Given the description of an element on the screen output the (x, y) to click on. 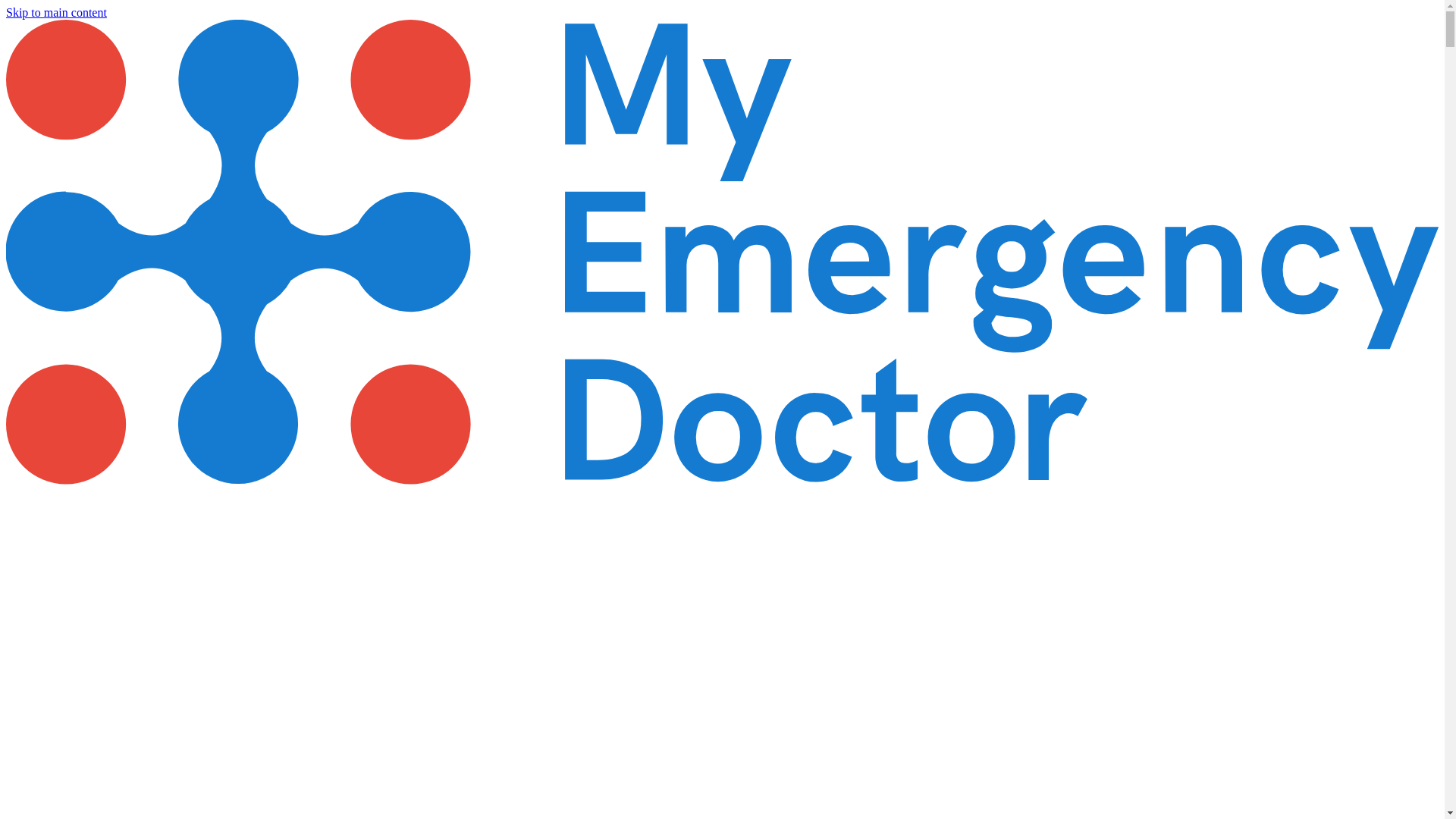
Skip to main content (55, 11)
